Given the description of an element on the screen output the (x, y) to click on. 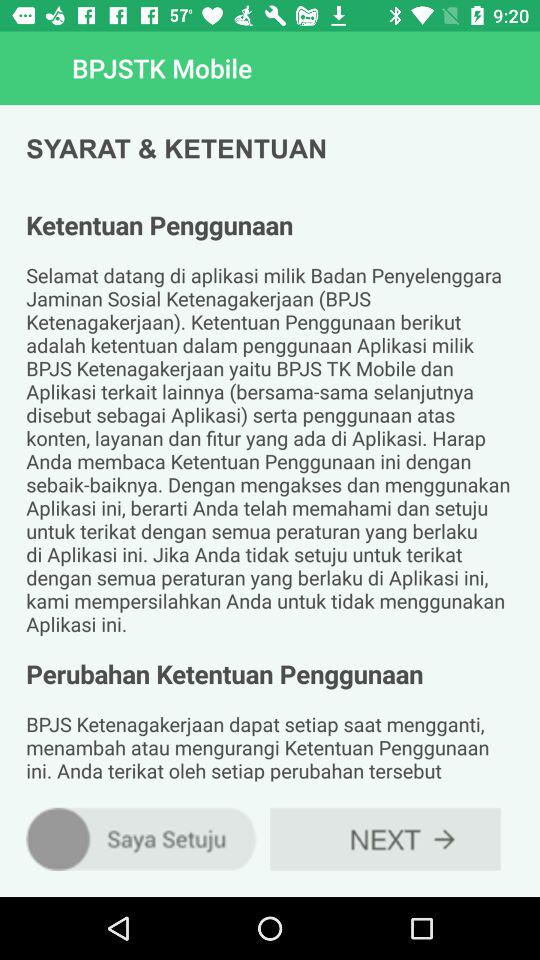
press the item at the bottom right corner (385, 838)
